Given the description of an element on the screen output the (x, y) to click on. 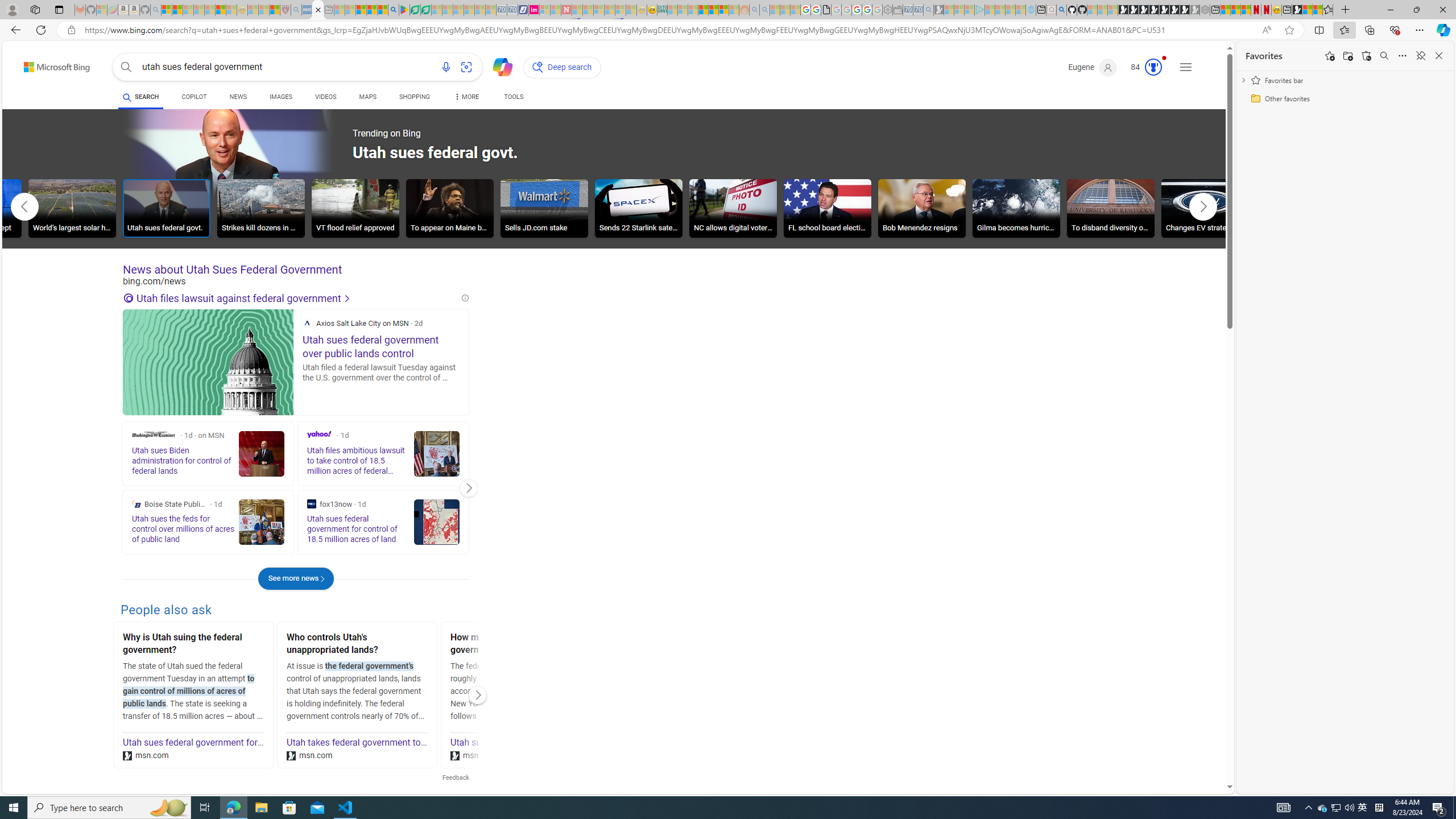
Search more (1204, 753)
Sells JD.com stake (544, 209)
Local - MSN (274, 9)
How much land does the federal government own in Utah? (520, 645)
Strikes kill dozens in Gaza (260, 209)
Back to Bing search (50, 64)
TOOLS (512, 98)
